Given the description of an element on the screen output the (x, y) to click on. 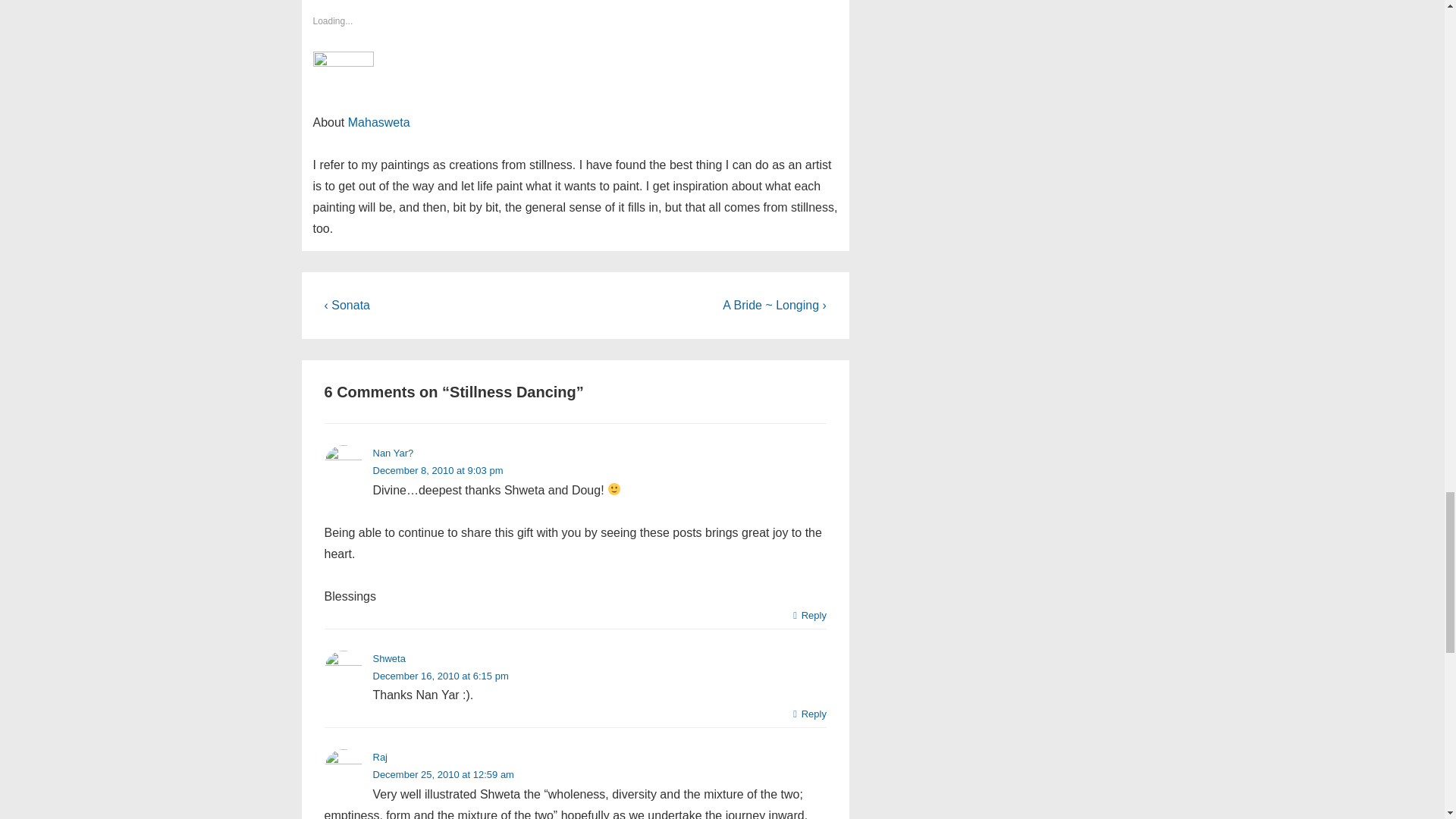
Mahasweta (378, 122)
Posts by Mahasweta (378, 122)
Nan Yar? (392, 452)
